Given the description of an element on the screen output the (x, y) to click on. 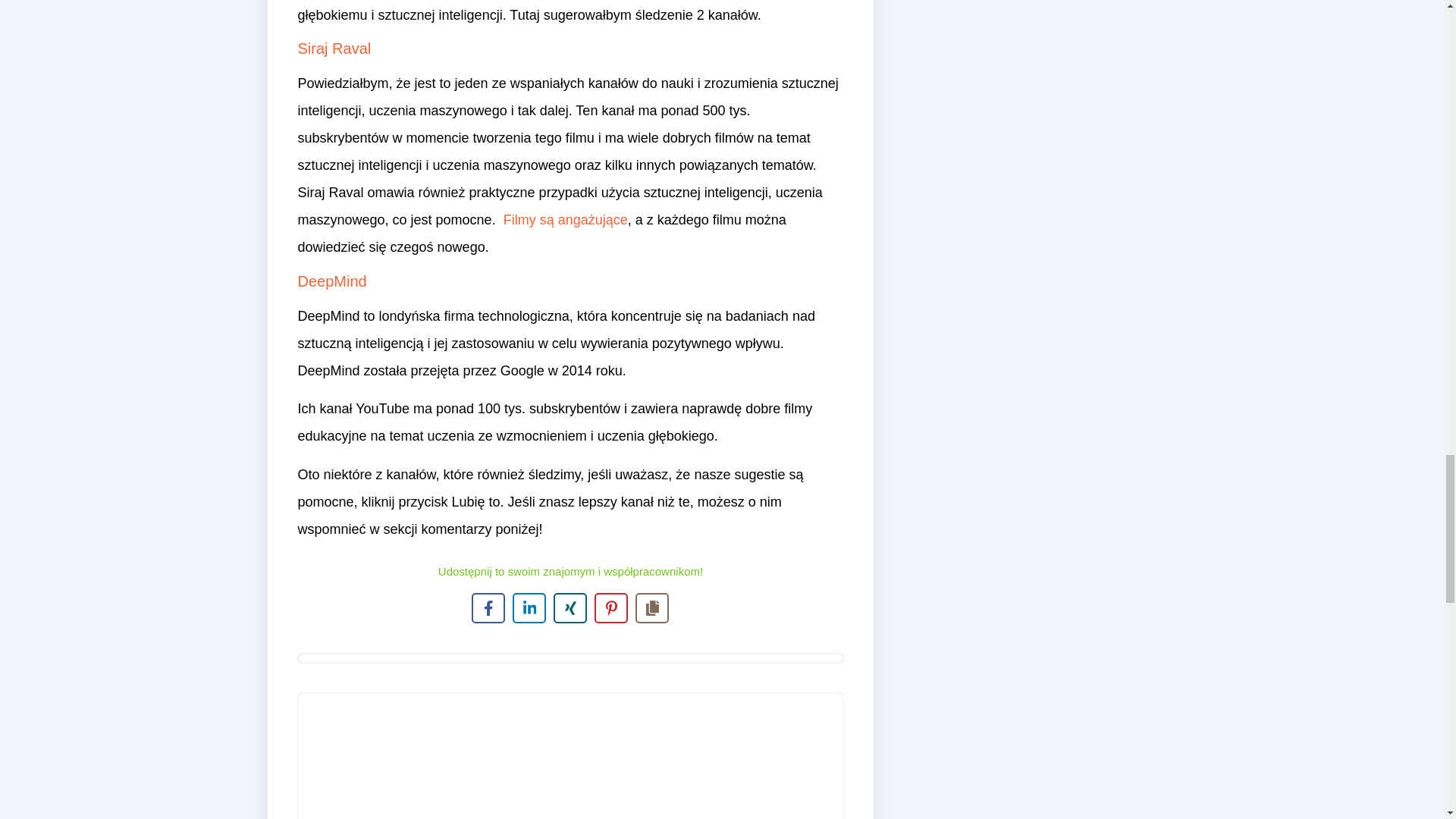
Siraj Raval (334, 48)
DeepMind (331, 280)
